Given the description of an element on the screen output the (x, y) to click on. 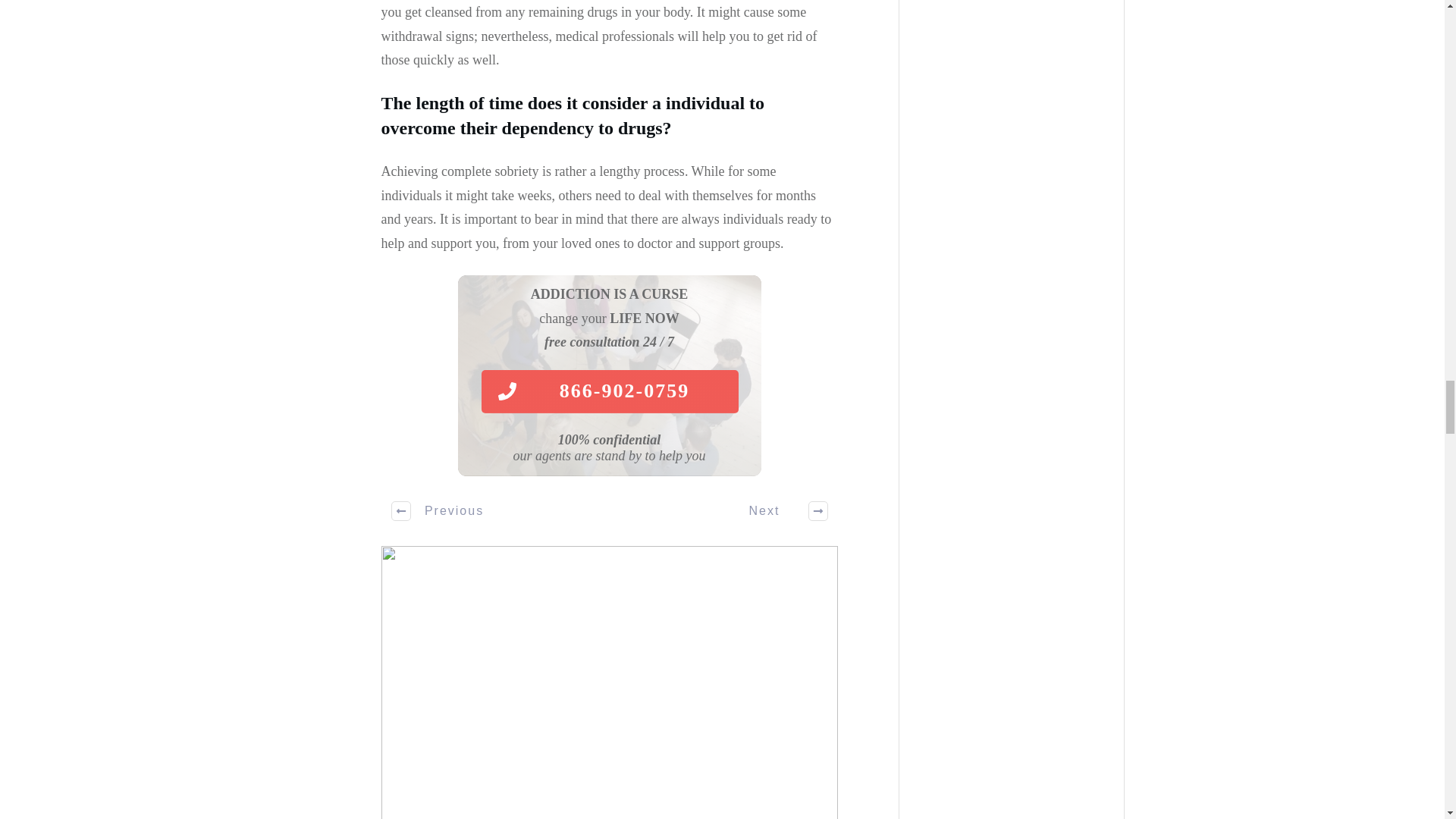
Previous (438, 510)
866-902-0759 (609, 391)
Next (780, 510)
